Given the description of an element on the screen output the (x, y) to click on. 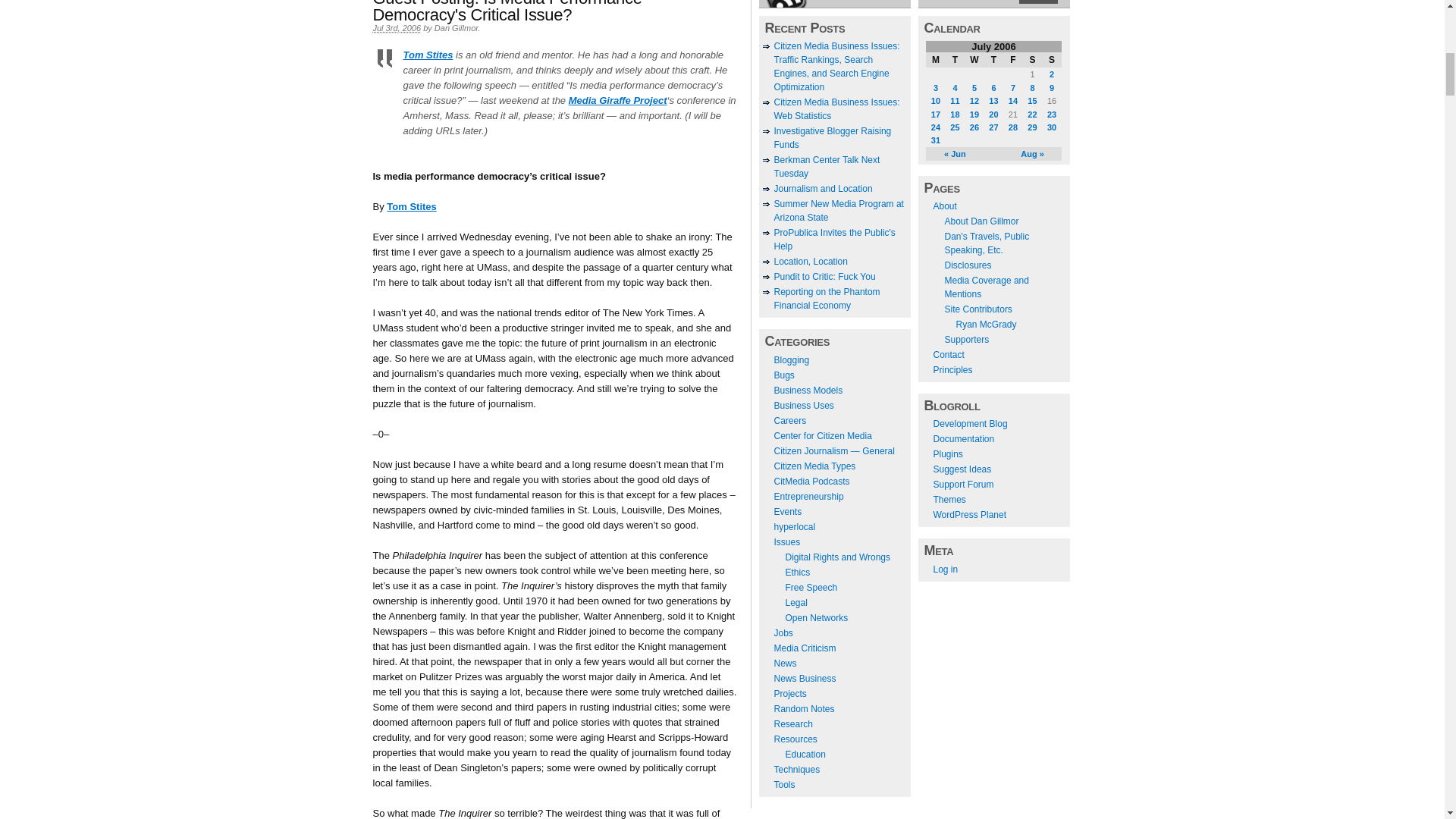
Tom Stites (427, 54)
Search (1038, 2)
2006-07-03T07:42:48-0700 (397, 28)
Dan Gillmor (456, 27)
Tom Stites (411, 206)
Media Giraffe Project (617, 100)
